Given the description of an element on the screen output the (x, y) to click on. 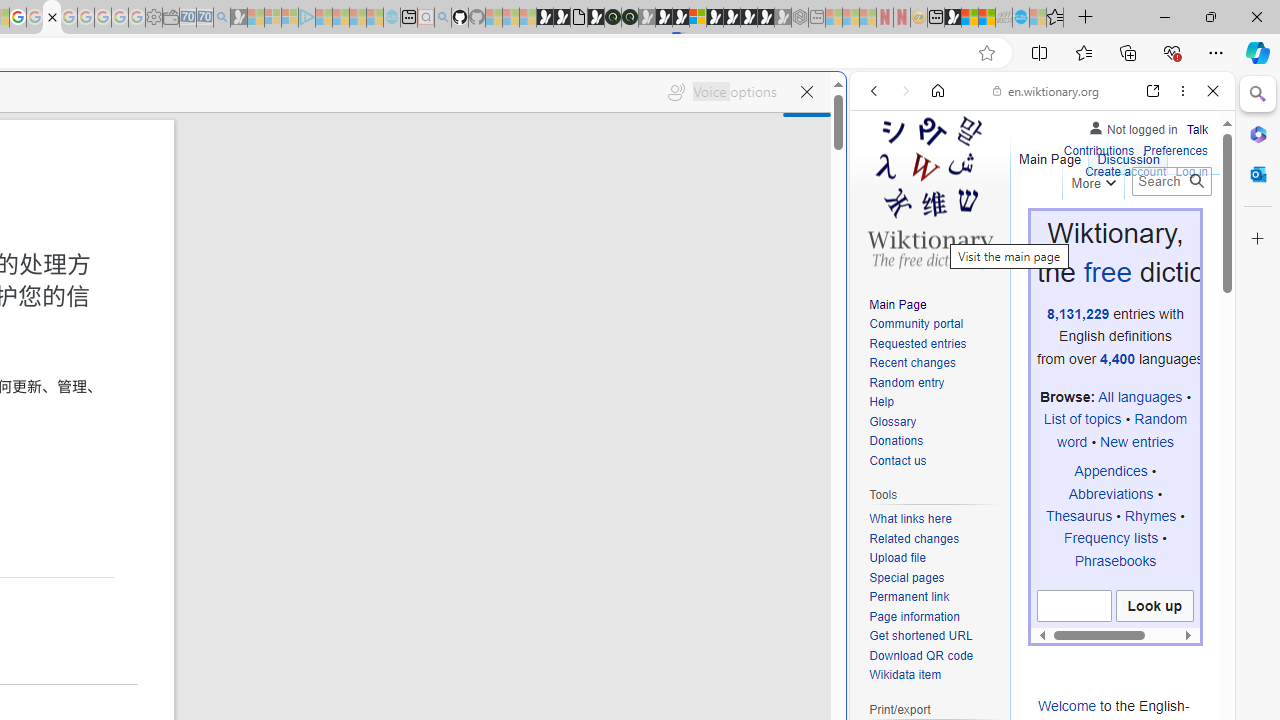
AutomationID: bodySearchInput0.099163710994 (1074, 605)
Contributions (1098, 151)
Sign in to your account (697, 17)
4,400 (1117, 358)
Close read aloud (805, 92)
Phrasebooks (1115, 560)
